Given the description of an element on the screen output the (x, y) to click on. 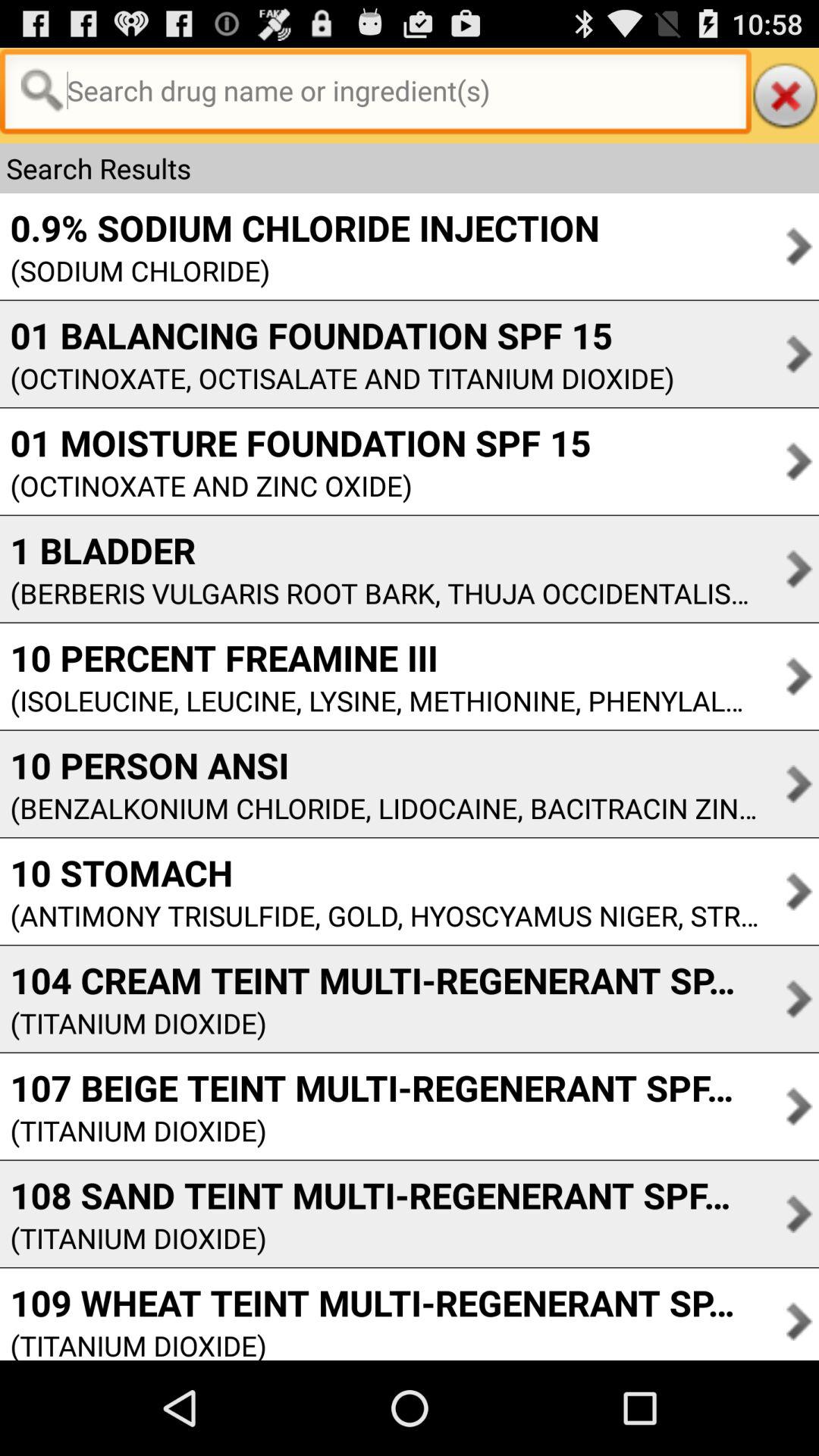
searcb the drug here (375, 95)
